Given the description of an element on the screen output the (x, y) to click on. 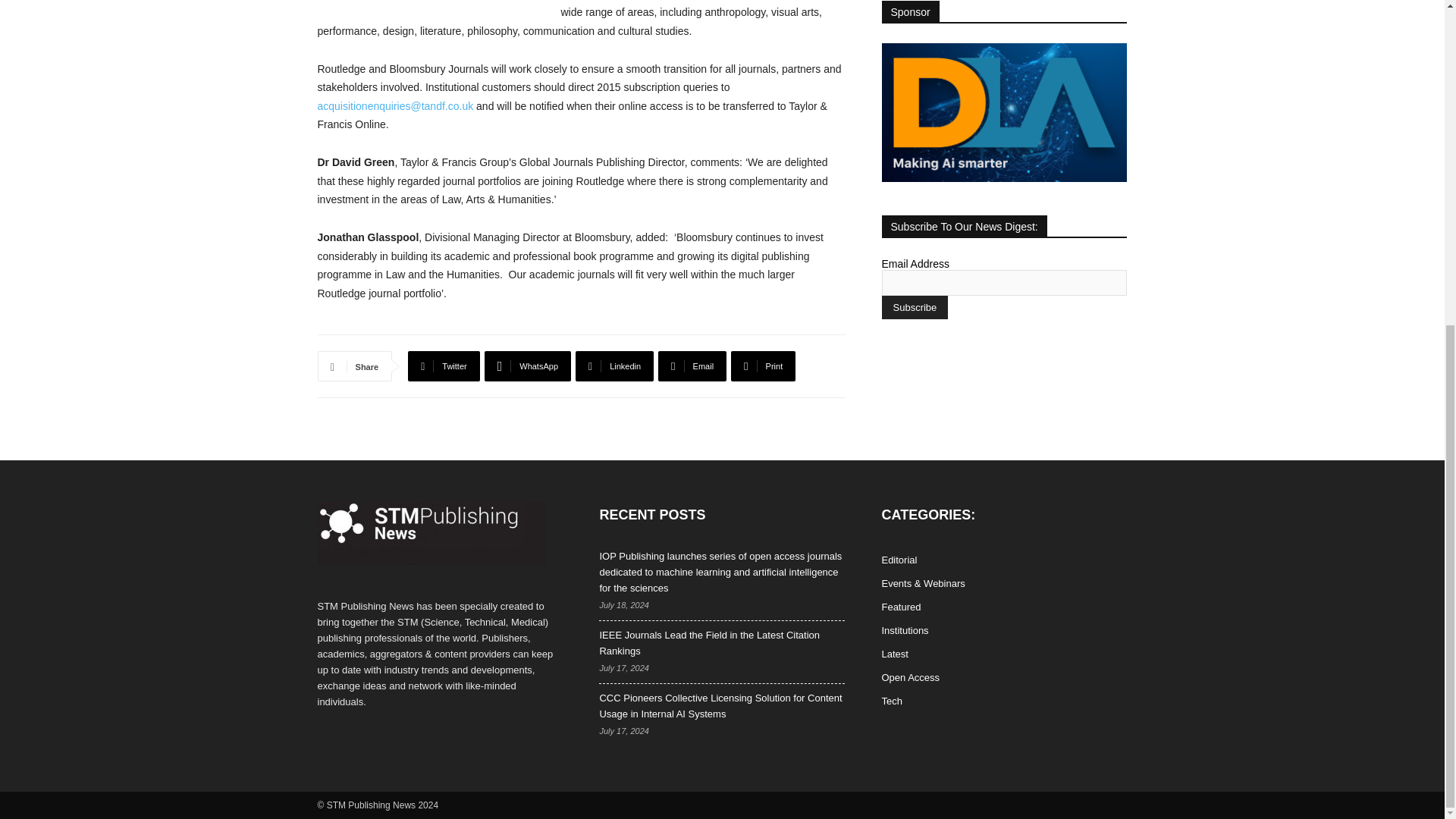
Subscribe (913, 307)
